Given the description of an element on the screen output the (x, y) to click on. 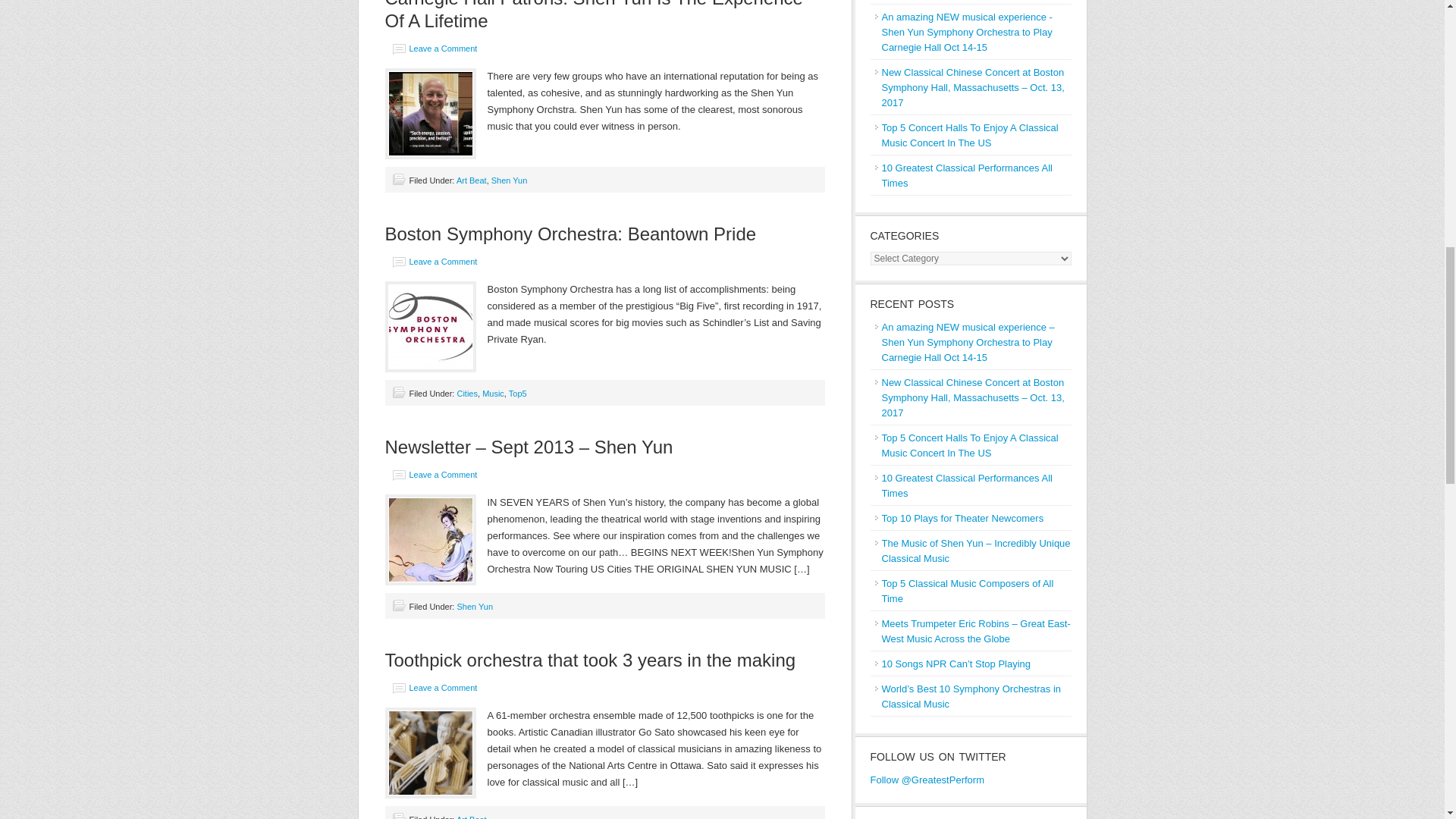
Leave a Comment (443, 48)
